Given the description of an element on the screen output the (x, y) to click on. 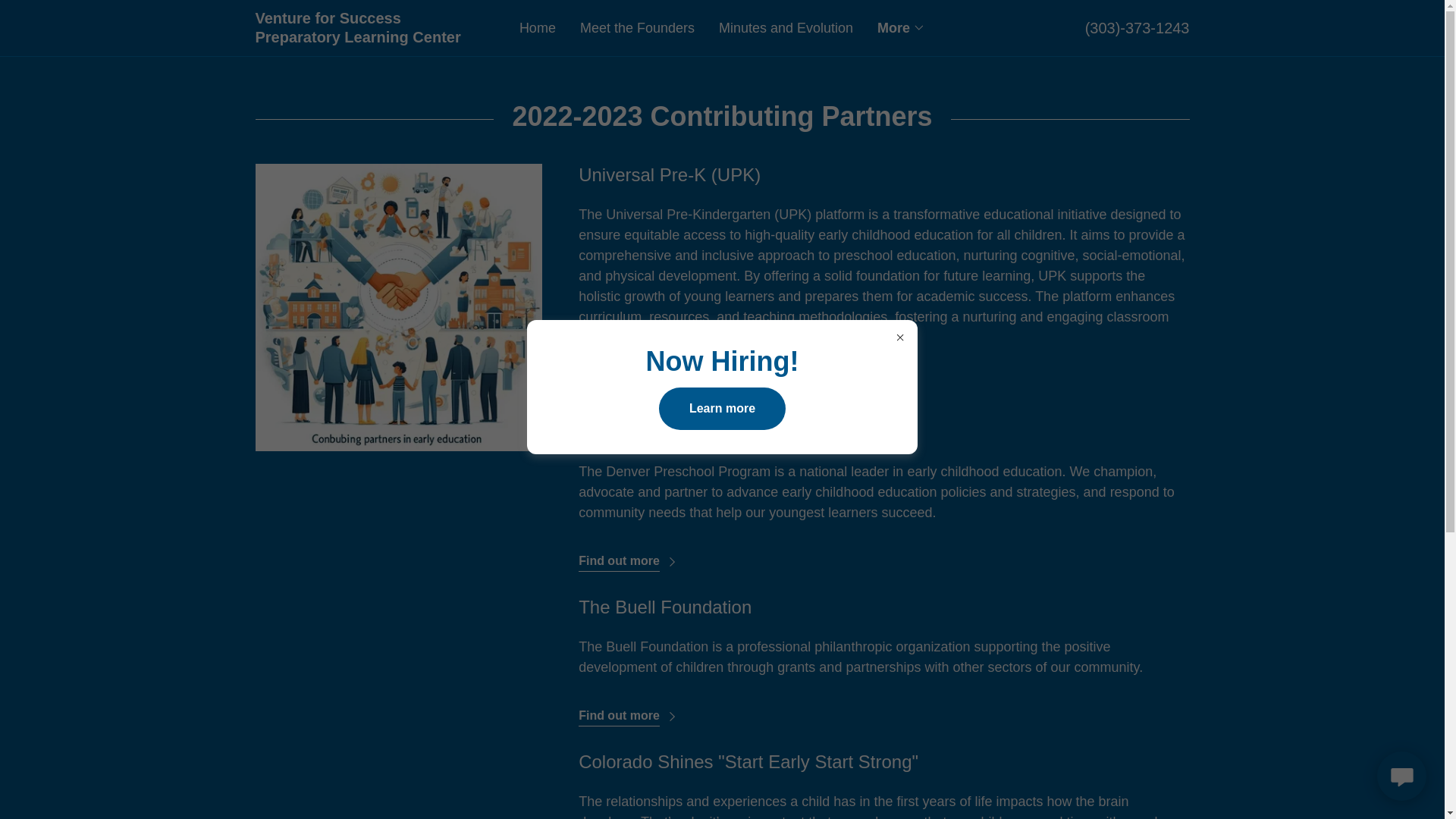
Venture for Success Preparatory Learning Center  (370, 37)
Minutes and Evolution (785, 27)
Find out more (628, 711)
Find out more (628, 381)
Find out more (628, 556)
Meet the Founders (636, 27)
Learn more (722, 407)
More (900, 27)
Home (537, 27)
Venture for Success Preparatory Learning Center (370, 37)
